Given the description of an element on the screen output the (x, y) to click on. 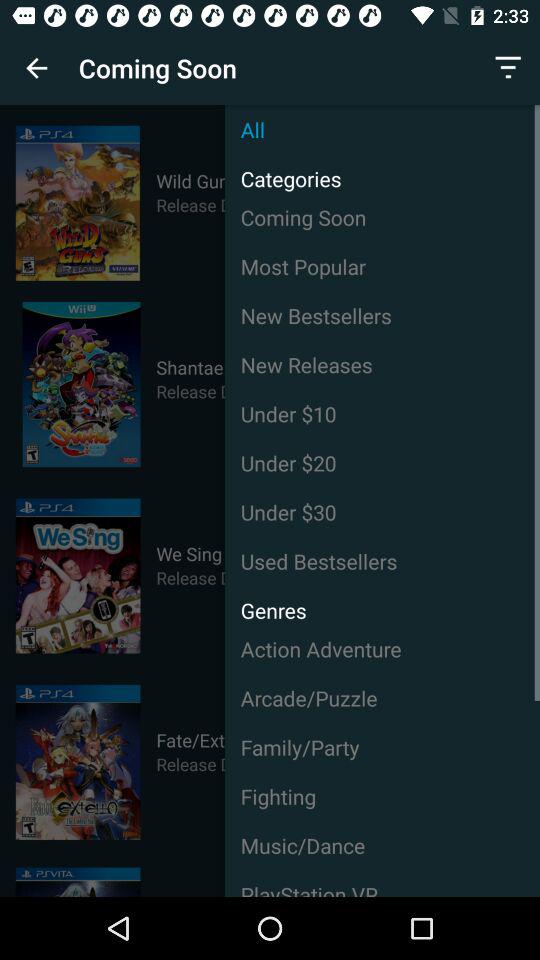
select the arcade/puzzle icon (382, 698)
